Given the description of an element on the screen output the (x, y) to click on. 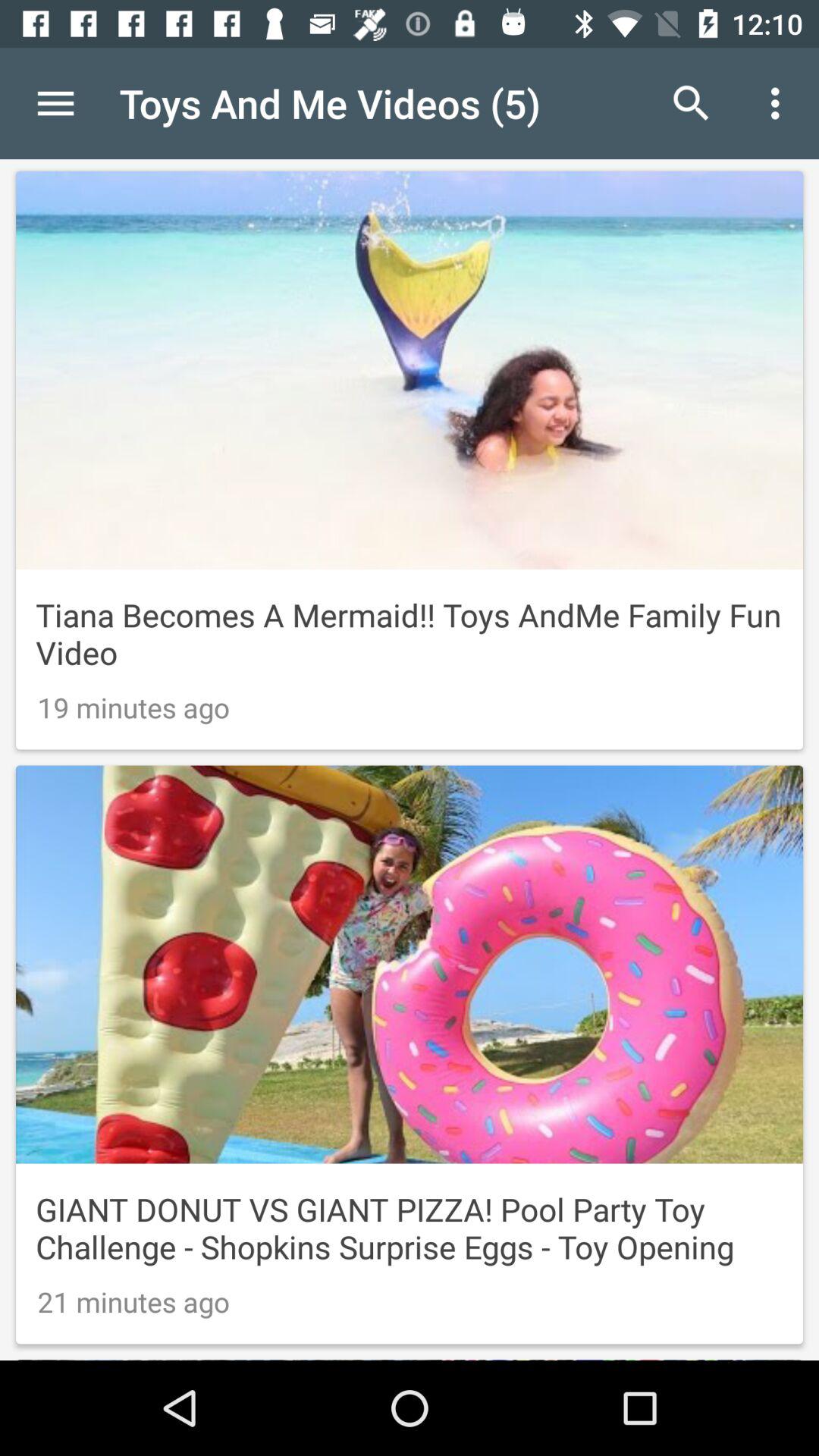
turn on the app to the right of the toys and me icon (691, 103)
